Given the description of an element on the screen output the (x, y) to click on. 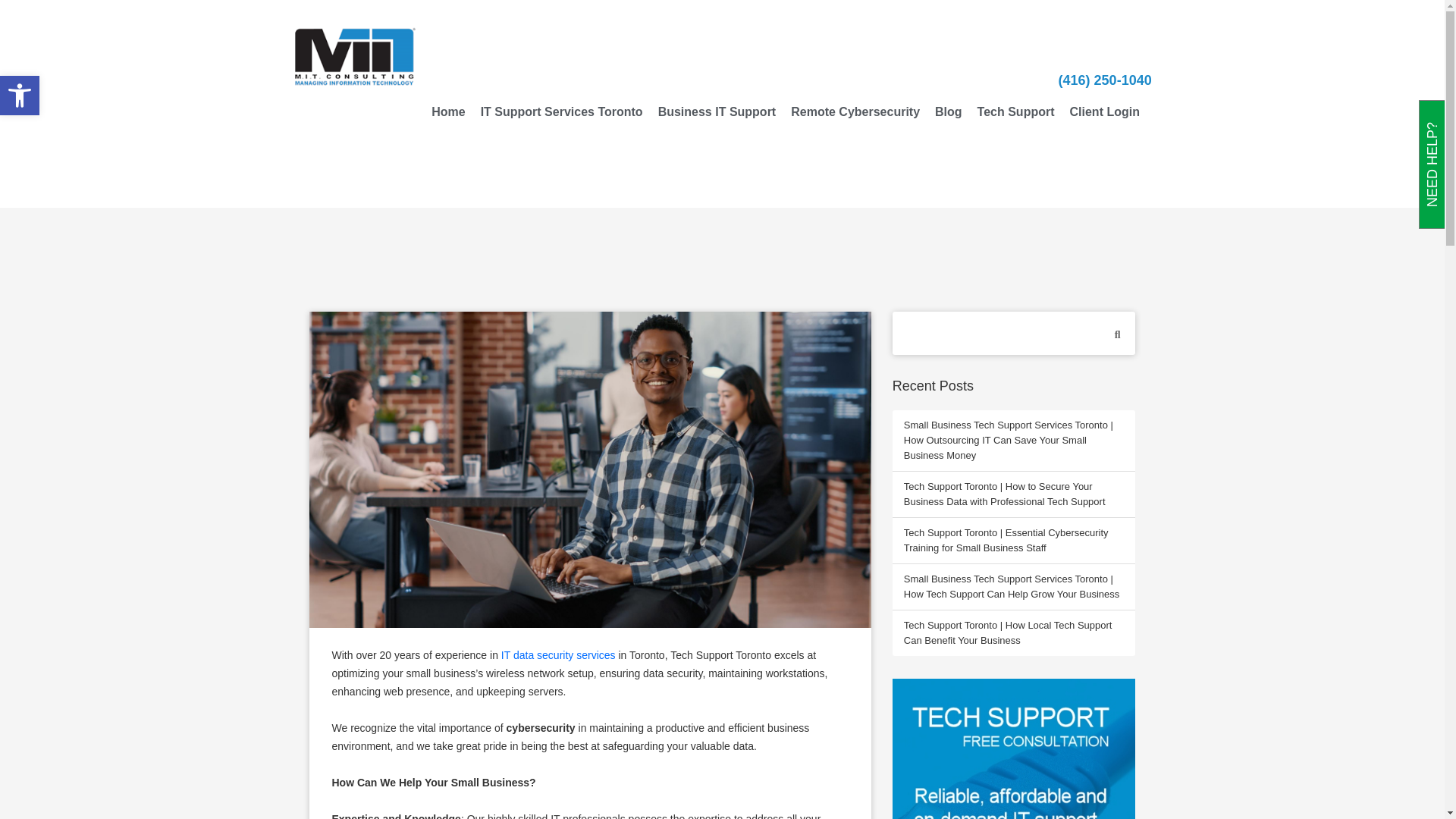
Home (447, 112)
IT Support Services Toronto (561, 112)
Client Login (19, 95)
Accessibility Tools (1104, 112)
Remote Cybersecurity (19, 95)
IT data security services (855, 112)
Business IT Support (557, 654)
Blog (717, 112)
tech support business toronto side banner (948, 112)
Accessibility Tools (1013, 748)
Tech Support (19, 95)
